Given the description of an element on the screen output the (x, y) to click on. 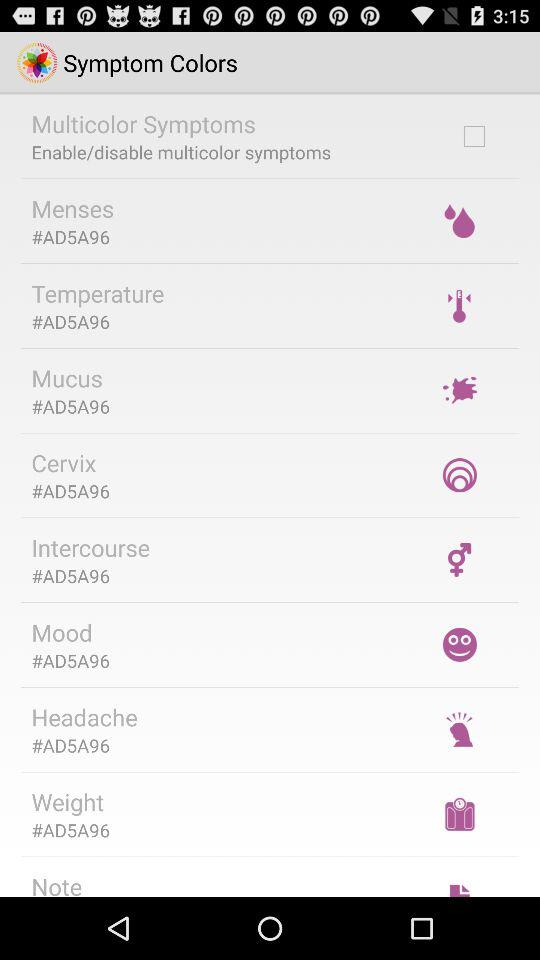
press the item below the #ad5a96 icon (66, 378)
